Given the description of an element on the screen output the (x, y) to click on. 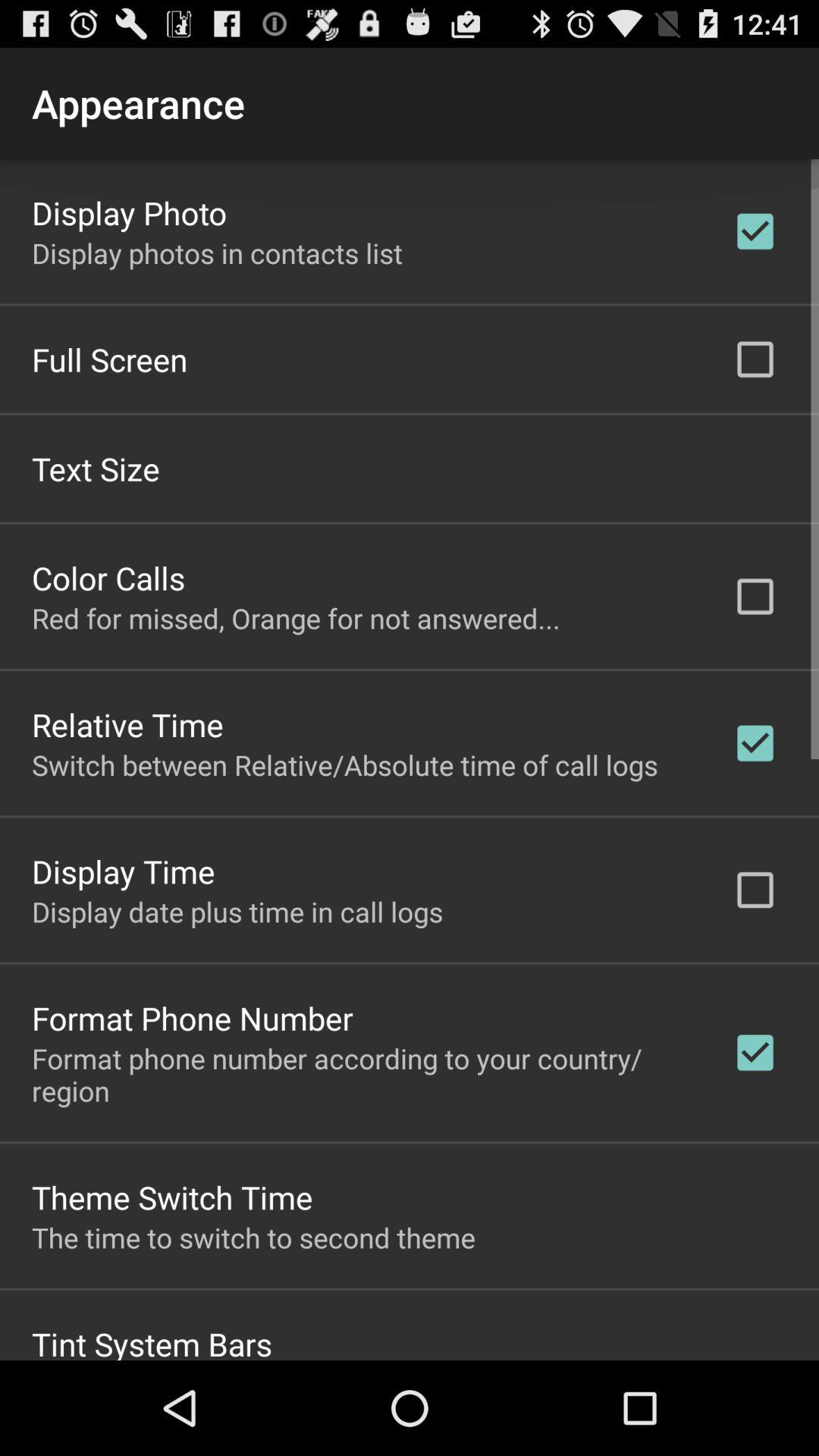
open text size (95, 467)
